Given the description of an element on the screen output the (x, y) to click on. 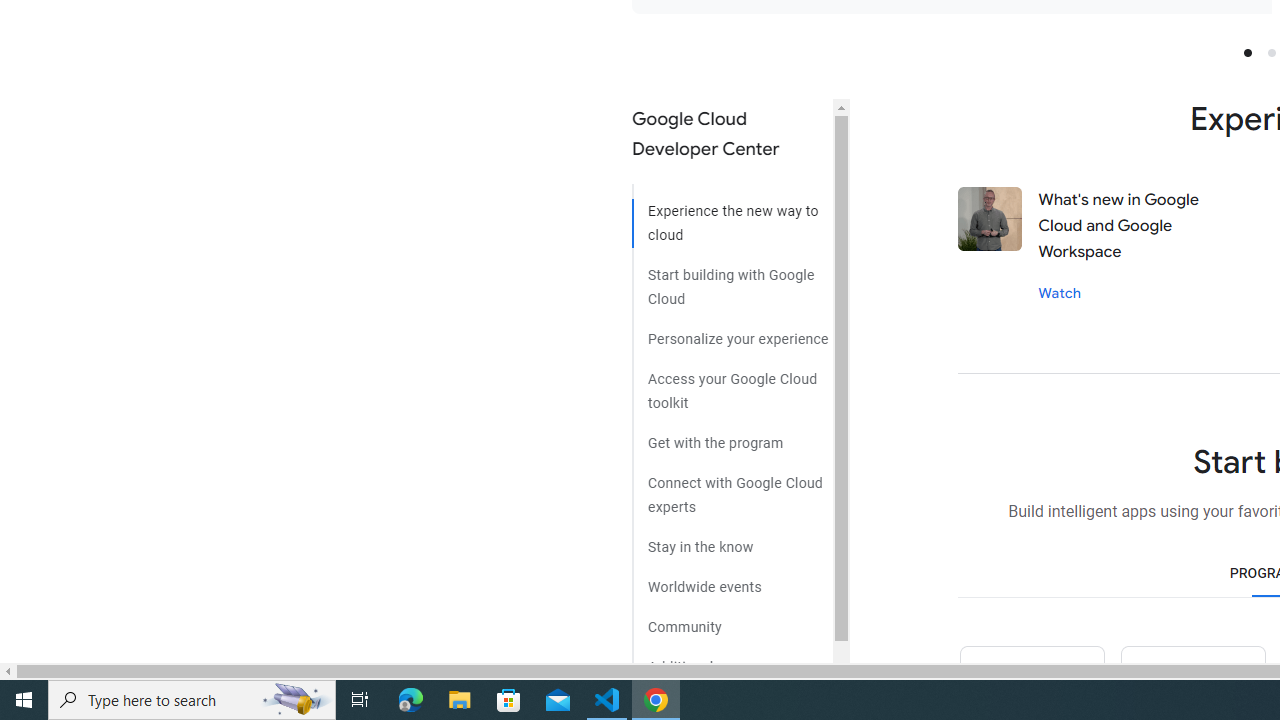
Slide 1 (1247, 52)
